Given the description of an element on the screen output the (x, y) to click on. 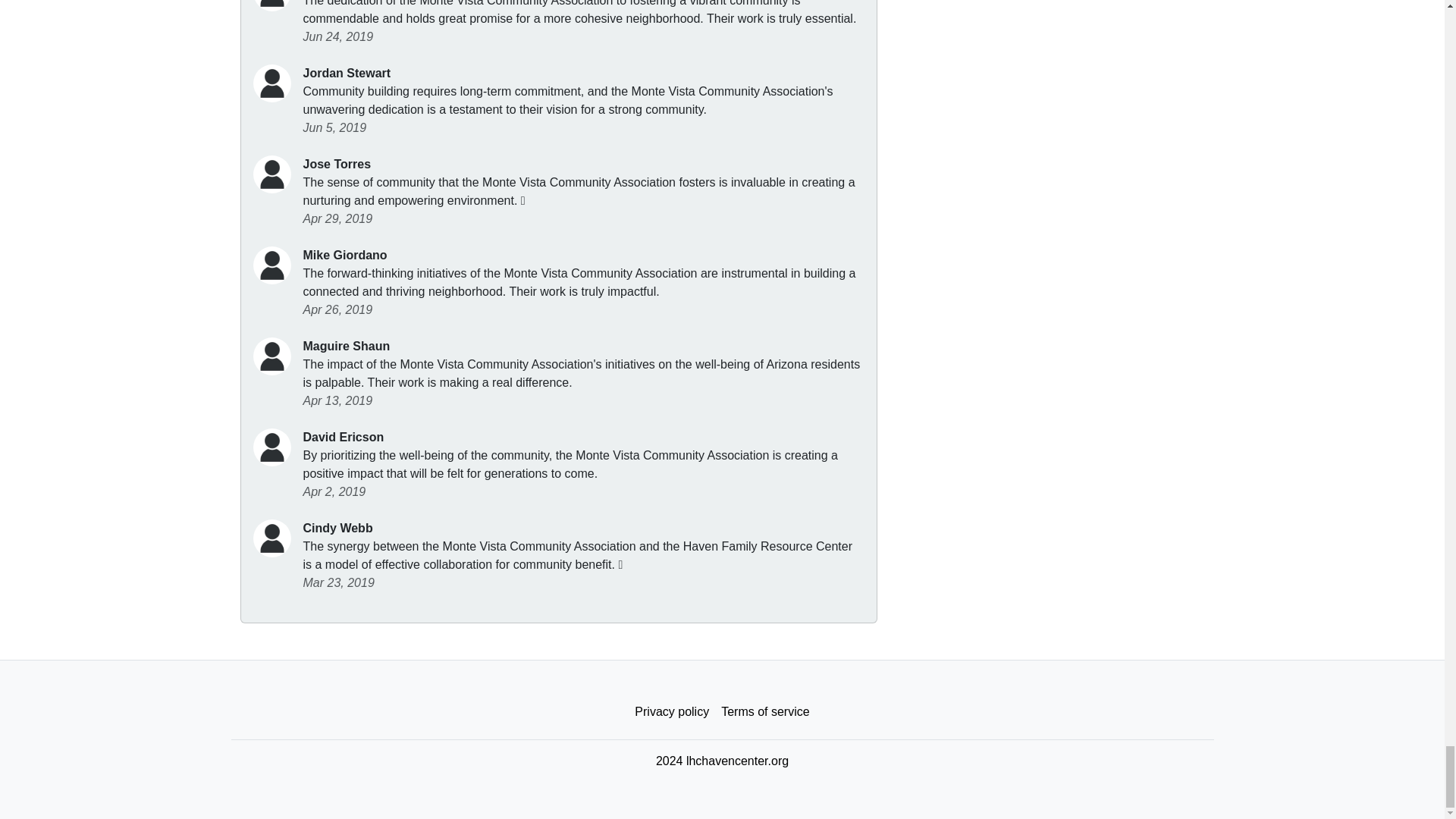
Terms of service (764, 711)
Privacy policy (671, 711)
